Given the description of an element on the screen output the (x, y) to click on. 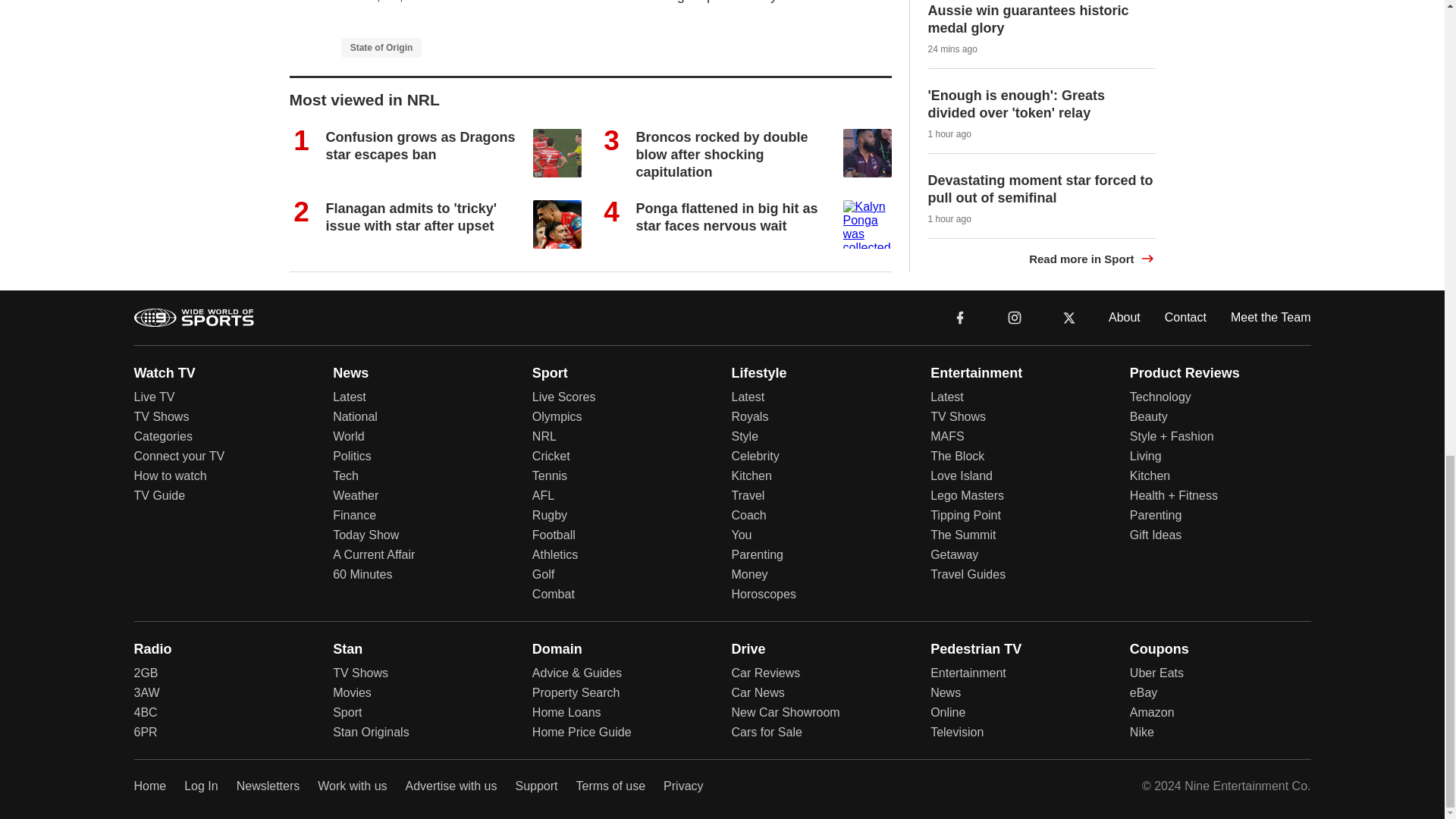
instagram (1014, 317)
x (1069, 317)
facebook (959, 316)
instagram (1013, 316)
State of Origin (381, 47)
Flanagan admits to 'tricky' issue with star after upset (411, 216)
Ponga flattened in big hit as star faces nervous wait (725, 216)
Confusion grows as Dragons star escapes ban (420, 145)
facebook (959, 316)
facebook (960, 317)
Broncos rocked by double blow after shocking capitulation (721, 154)
instagram (1013, 316)
x (1069, 316)
